Given the description of an element on the screen output the (x, y) to click on. 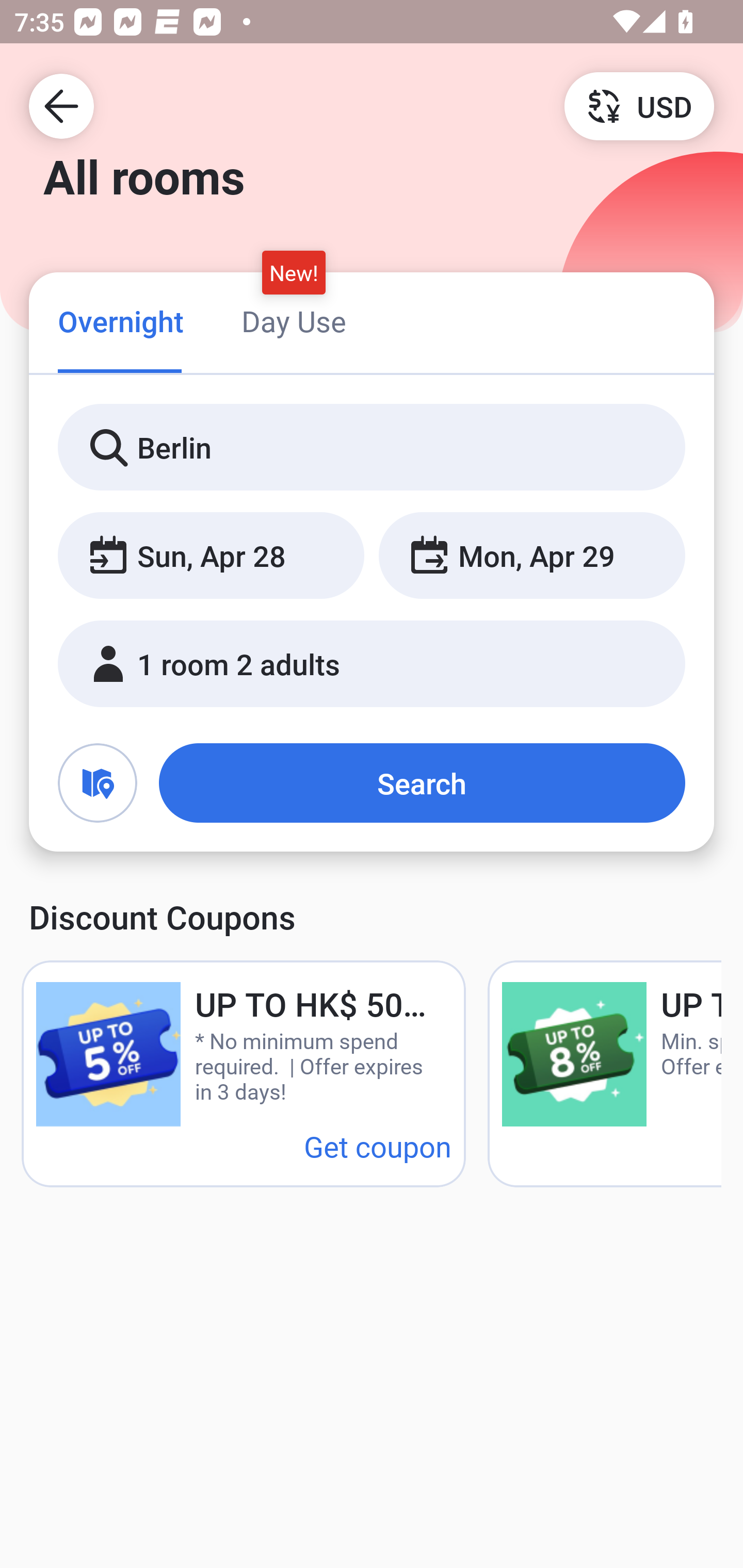
USD (639, 105)
New! (294, 272)
Day Use (293, 321)
Berlin (371, 447)
Sun, Apr 28 (210, 555)
Mon, Apr 29 (531, 555)
1 room 2 adults (371, 663)
Search (422, 783)
Get coupon (377, 1146)
